Given the description of an element on the screen output the (x, y) to click on. 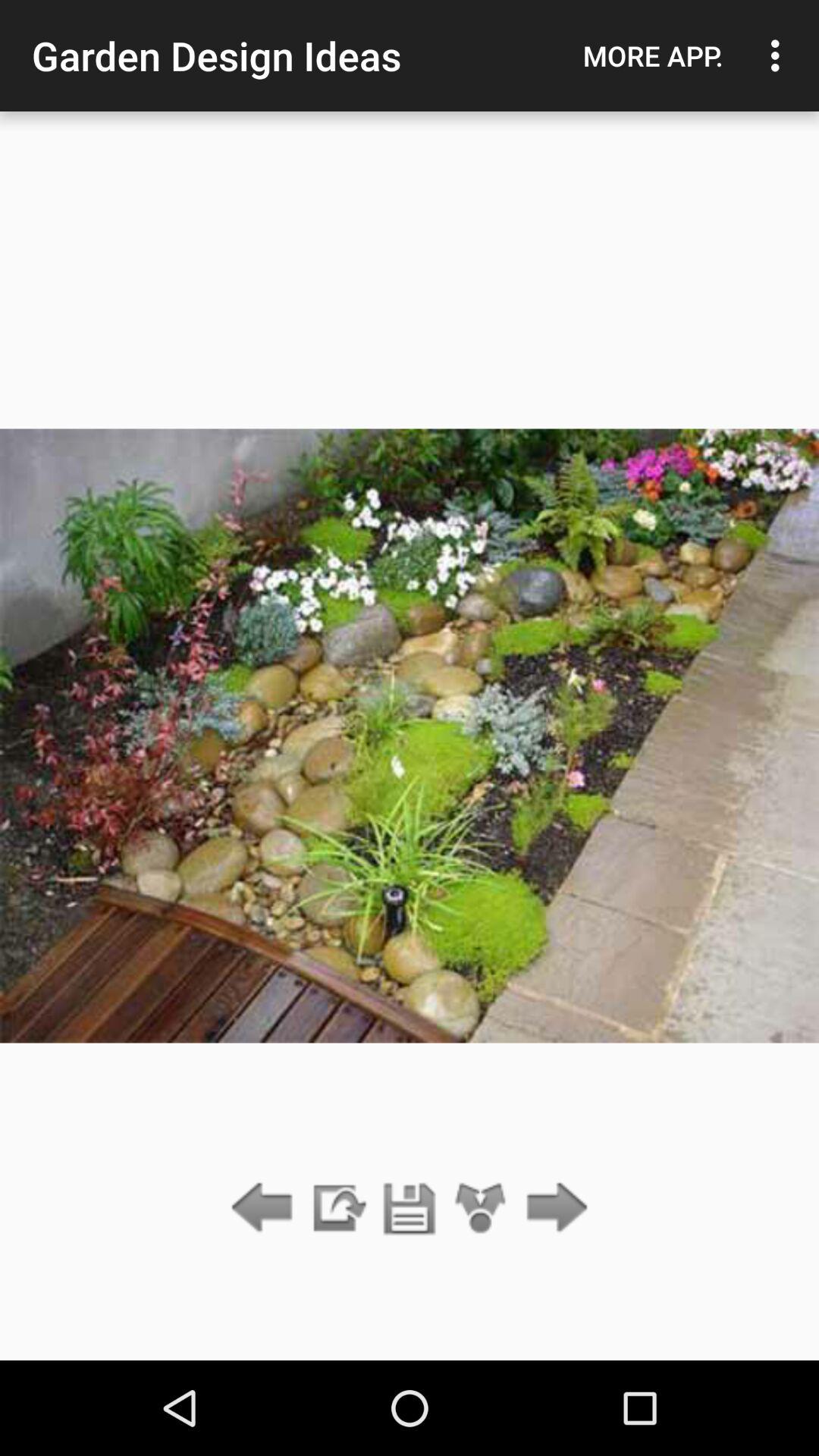
press the item to the right of more app. (779, 55)
